Given the description of an element on the screen output the (x, y) to click on. 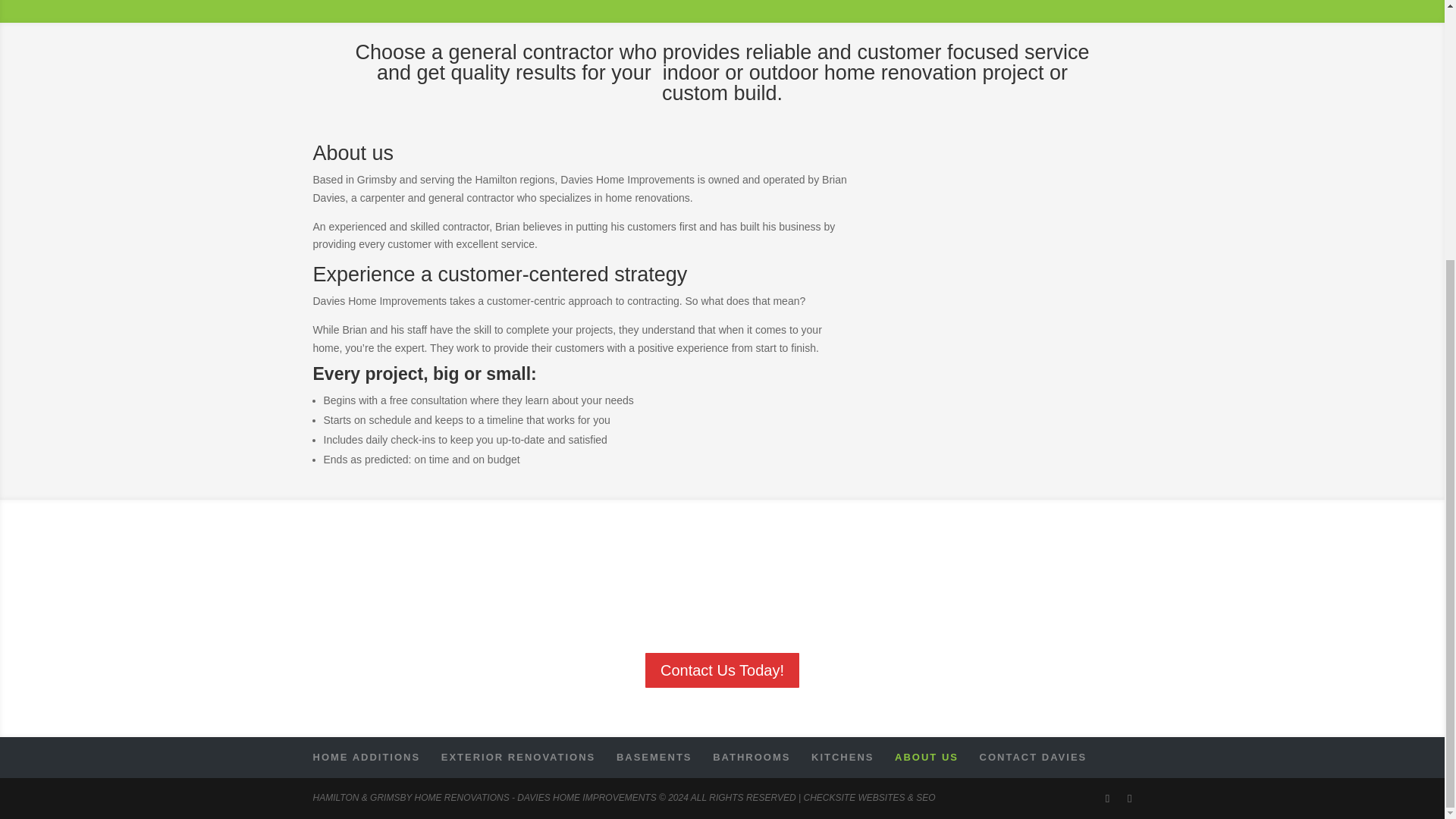
HOME ADDITIONS (366, 756)
Contact Us Today! (721, 670)
KITCHENS (841, 756)
BATHROOMS (751, 756)
ABOUT US (926, 756)
BASEMENTS (654, 756)
EXTERIOR RENOVATIONS (518, 756)
CONTACT DAVIES (1033, 756)
